Given the description of an element on the screen output the (x, y) to click on. 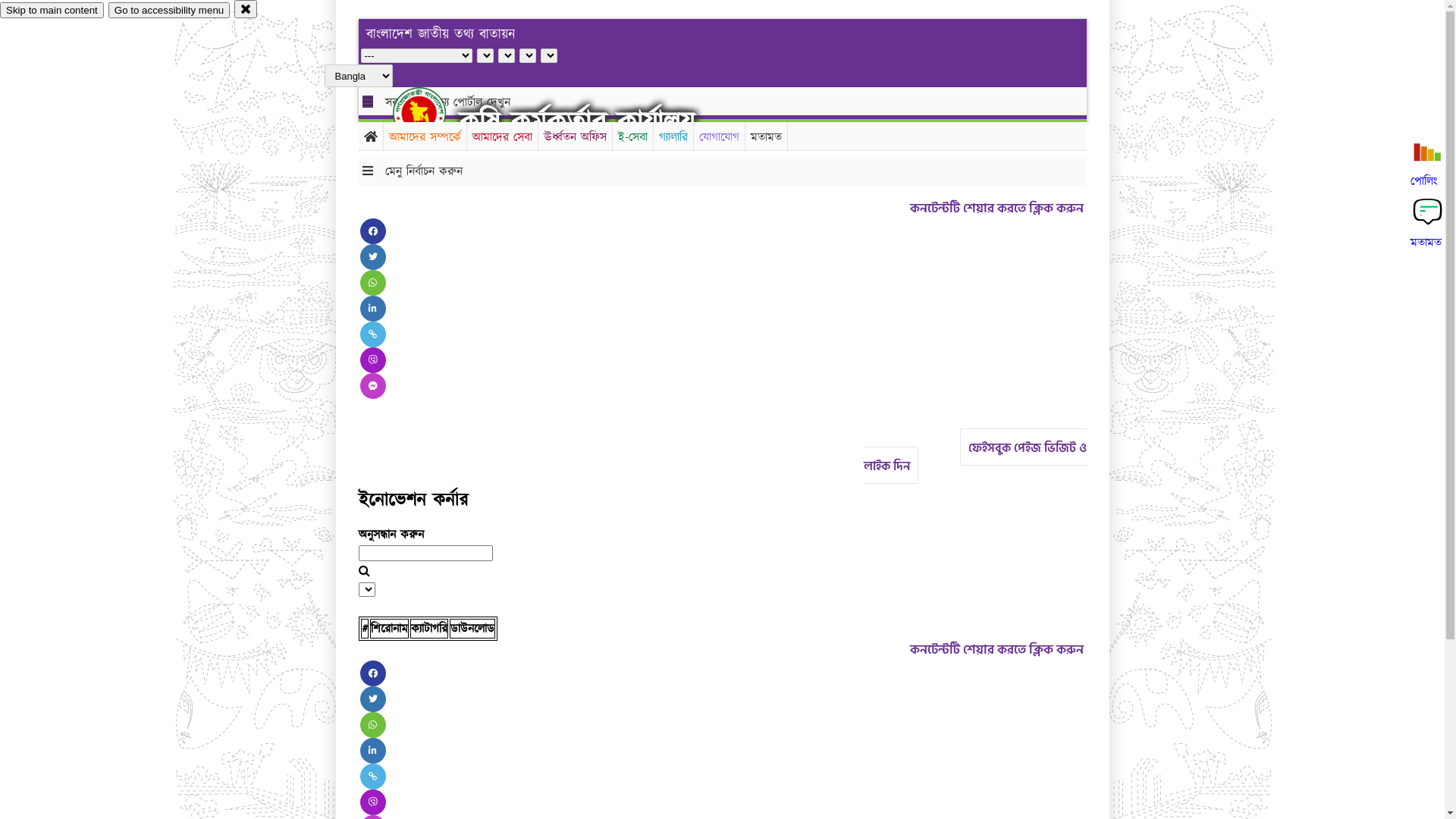
Skip to main content Element type: text (51, 10)

                
             Element type: hover (431, 112)
Go to accessibility menu Element type: text (168, 10)
close Element type: hover (245, 9)
